Given the description of an element on the screen output the (x, y) to click on. 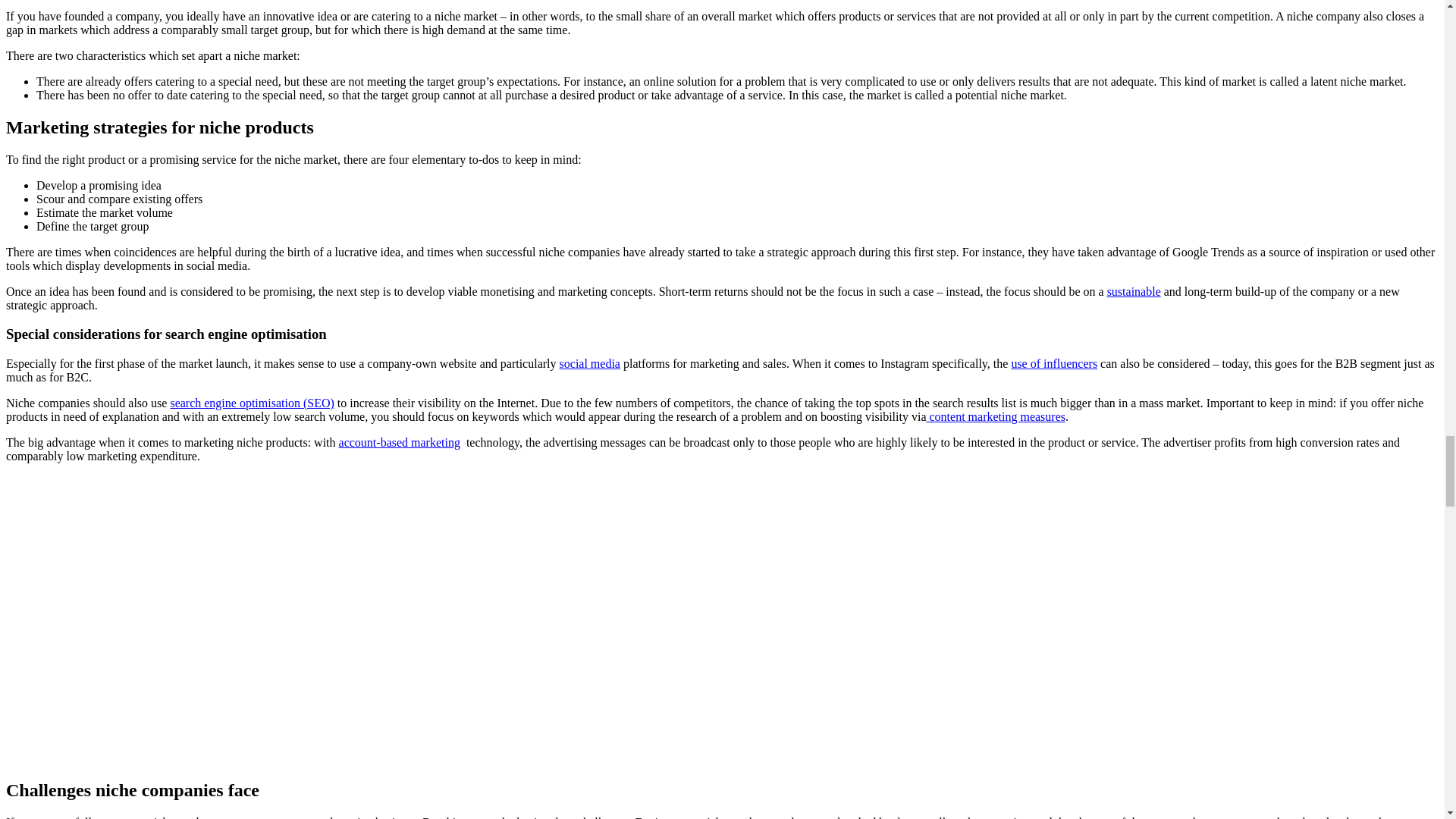
YouTube video player (217, 622)
